Given the description of an element on the screen output the (x, y) to click on. 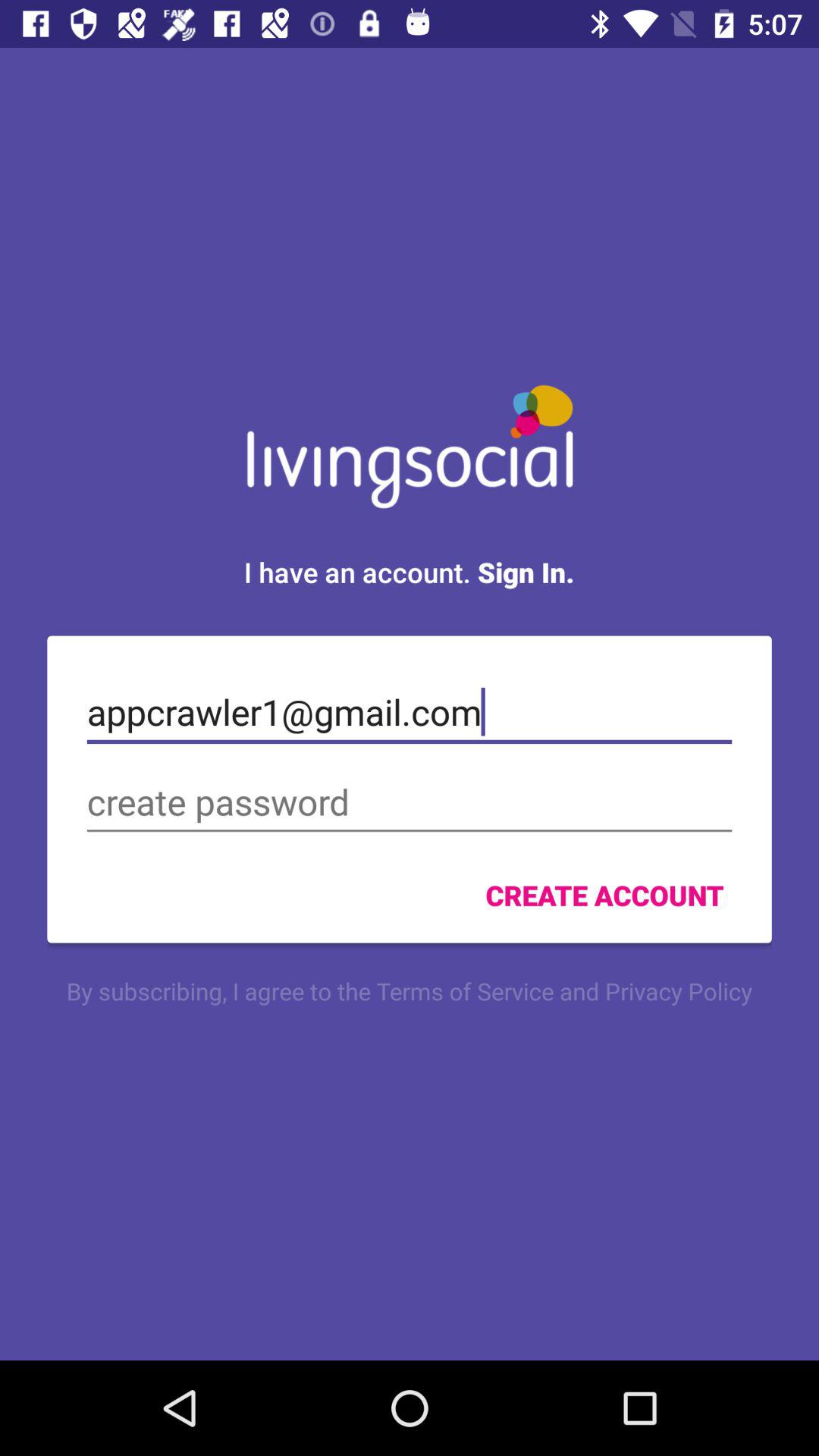
create password (409, 802)
